Given the description of an element on the screen output the (x, y) to click on. 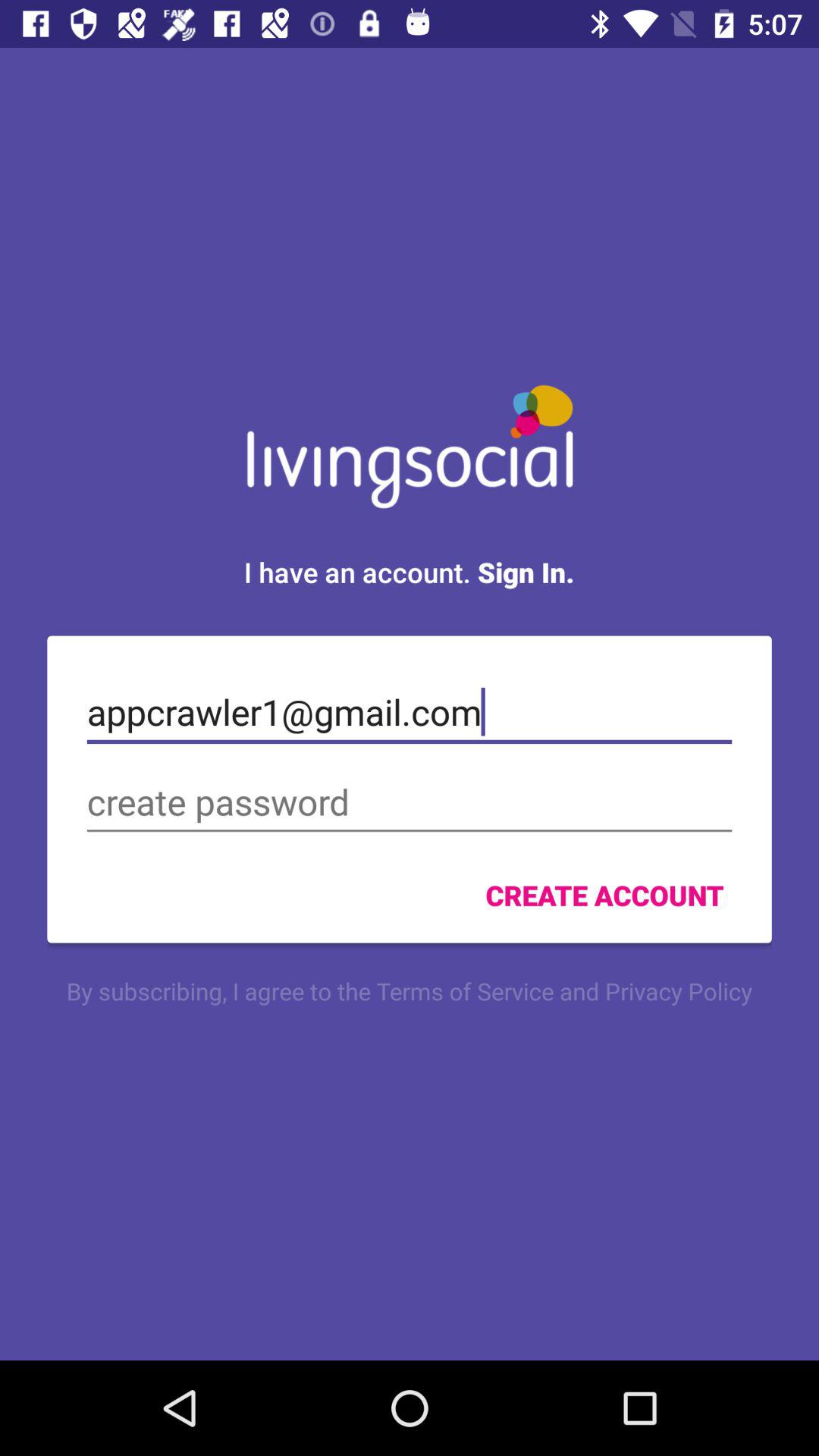
create password (409, 802)
